Given the description of an element on the screen output the (x, y) to click on. 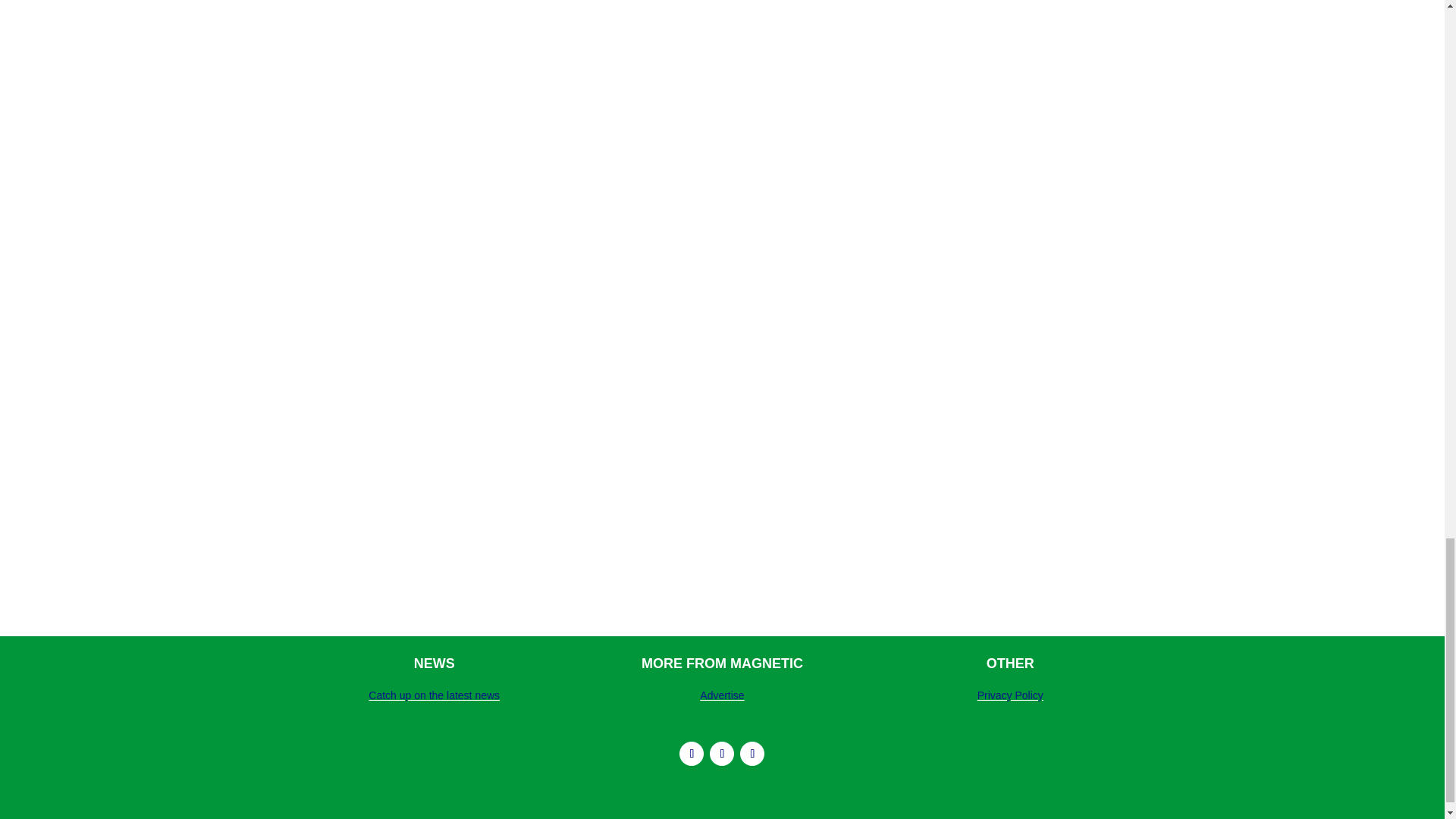
Privacy Policy (1009, 695)
Catch up on the latest news (433, 695)
Follow on LinkedIn (721, 753)
Follow on Facebook (751, 753)
Follow on Instagram (691, 753)
NEWS (433, 663)
Advertise (722, 695)
